Given the description of an element on the screen output the (x, y) to click on. 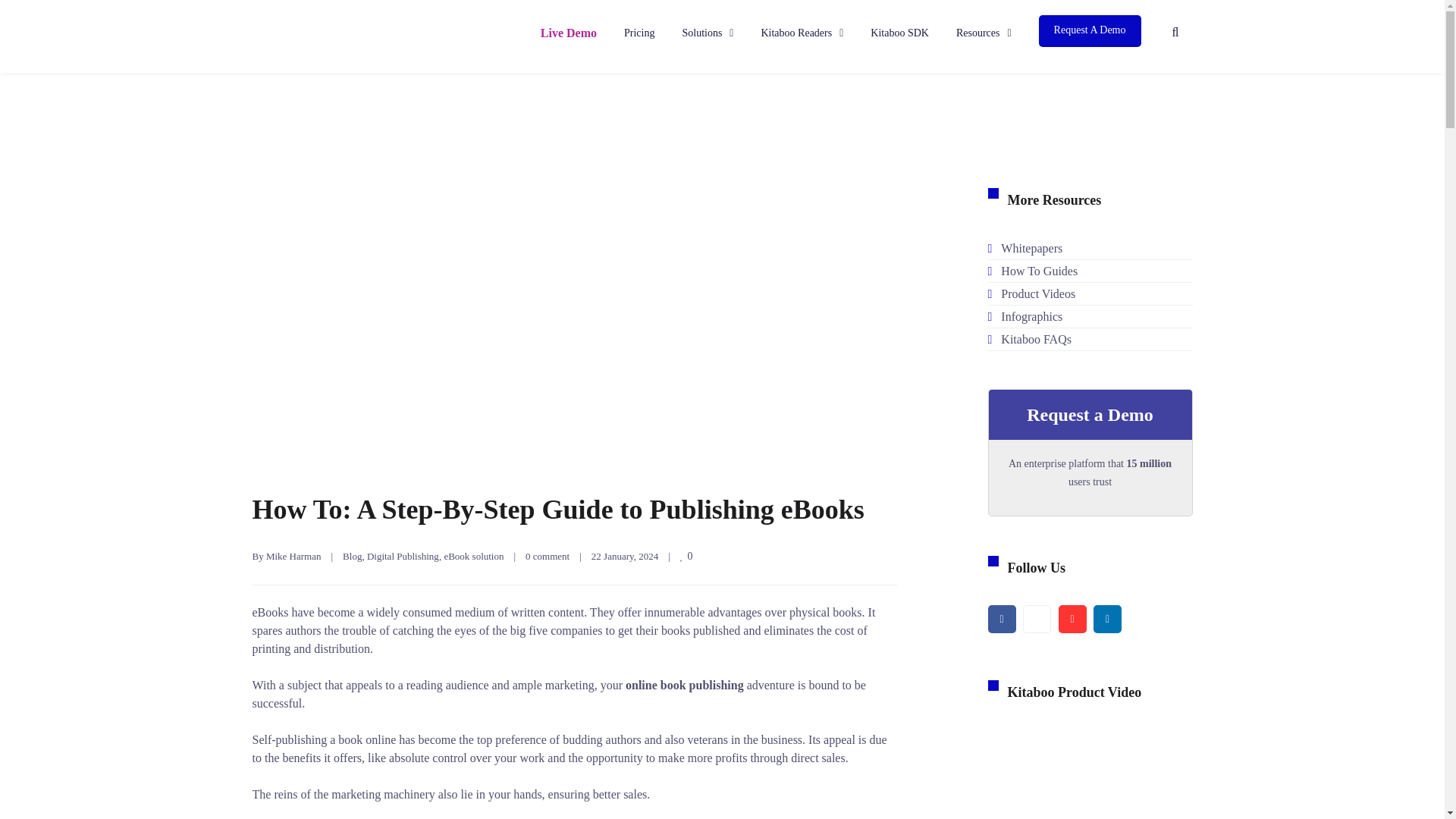
0 comment (547, 555)
0  (687, 555)
Posts by Mike Harman (293, 555)
Kitaboo SDK (899, 36)
Live Demo (568, 36)
Mike Harman (293, 555)
How To: A Step-By-Step Guide to Publishing eBooks (557, 509)
Kitaboo Readers (801, 36)
Like this (687, 555)
Resources (983, 36)
Pricing (638, 36)
How To: A Step-By-Step Guide to Publishing eBooks (557, 509)
Digital Publishing (402, 555)
Request A Demo (1090, 30)
Blog (351, 555)
